Given the description of an element on the screen output the (x, y) to click on. 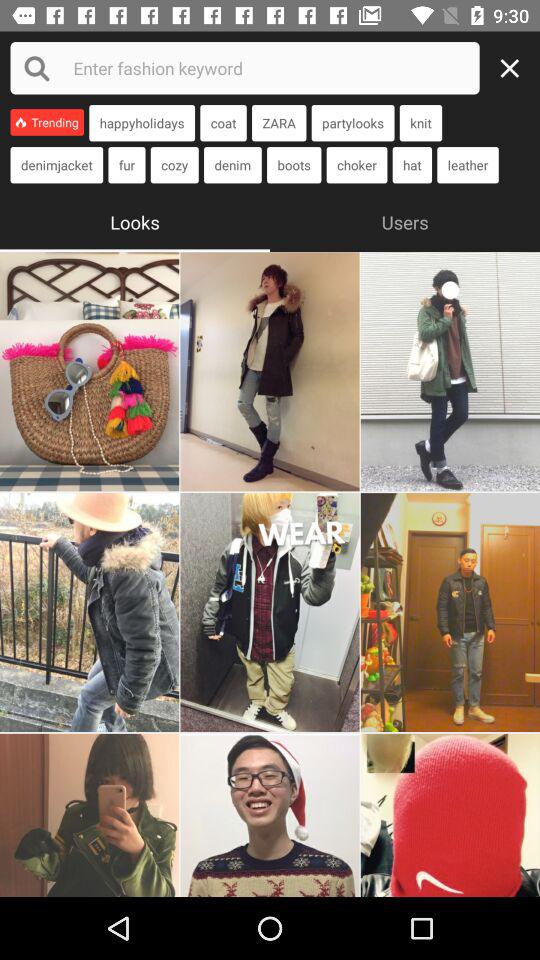
look at the image (450, 371)
